Given the description of an element on the screen output the (x, y) to click on. 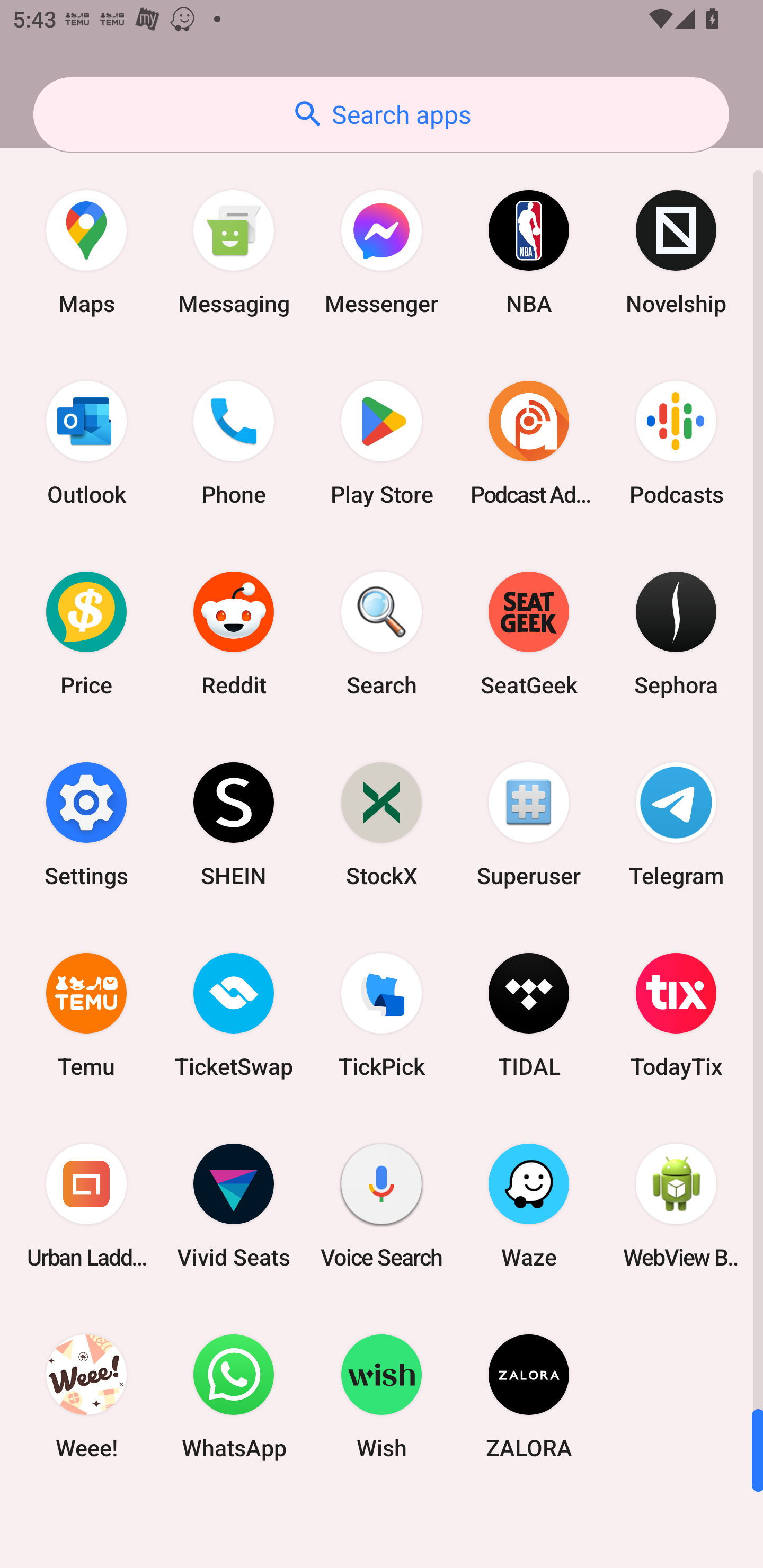
  Search apps (381, 114)
Maps (86, 252)
Messaging (233, 252)
Messenger (381, 252)
NBA (528, 252)
Novelship (676, 252)
Outlook (86, 442)
Phone (233, 442)
Play Store (381, 442)
Podcast Addict (528, 442)
Podcasts (676, 442)
Price (86, 633)
Reddit (233, 633)
Search (381, 633)
SeatGeek (528, 633)
Sephora (676, 633)
Settings (86, 823)
SHEIN (233, 823)
StockX (381, 823)
Superuser (528, 823)
Telegram (676, 823)
Temu (86, 1014)
TicketSwap (233, 1014)
TickPick (381, 1014)
TIDAL (528, 1014)
TodayTix (676, 1014)
Urban Ladder (86, 1205)
Vivid Seats (233, 1205)
Voice Search (381, 1205)
Waze (528, 1205)
WebView Browser Tester (676, 1205)
Weee! (86, 1396)
WhatsApp (233, 1396)
Wish (381, 1396)
ZALORA (528, 1396)
